Given the description of an element on the screen output the (x, y) to click on. 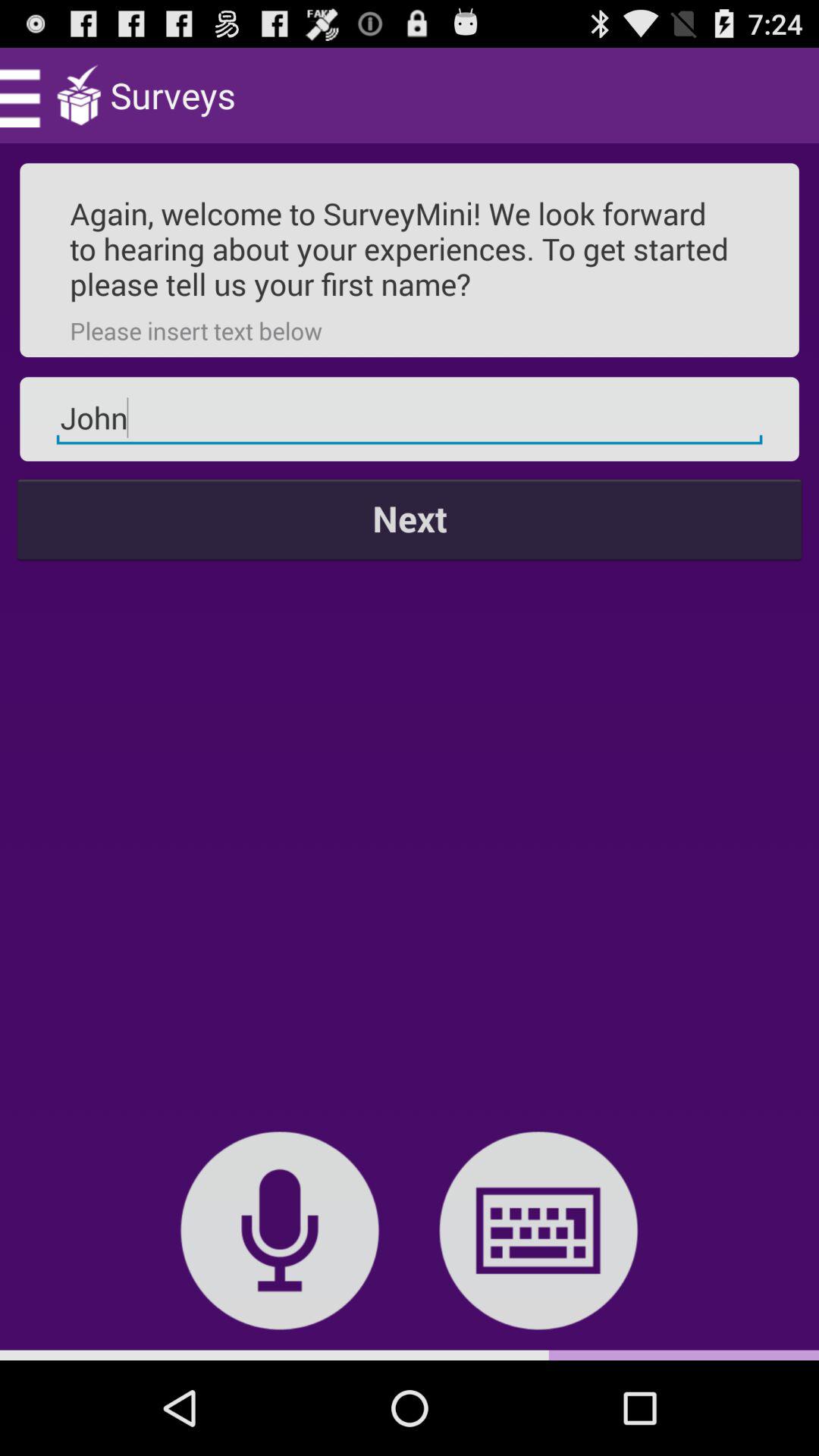
flip until the next icon (409, 518)
